Given the description of an element on the screen output the (x, y) to click on. 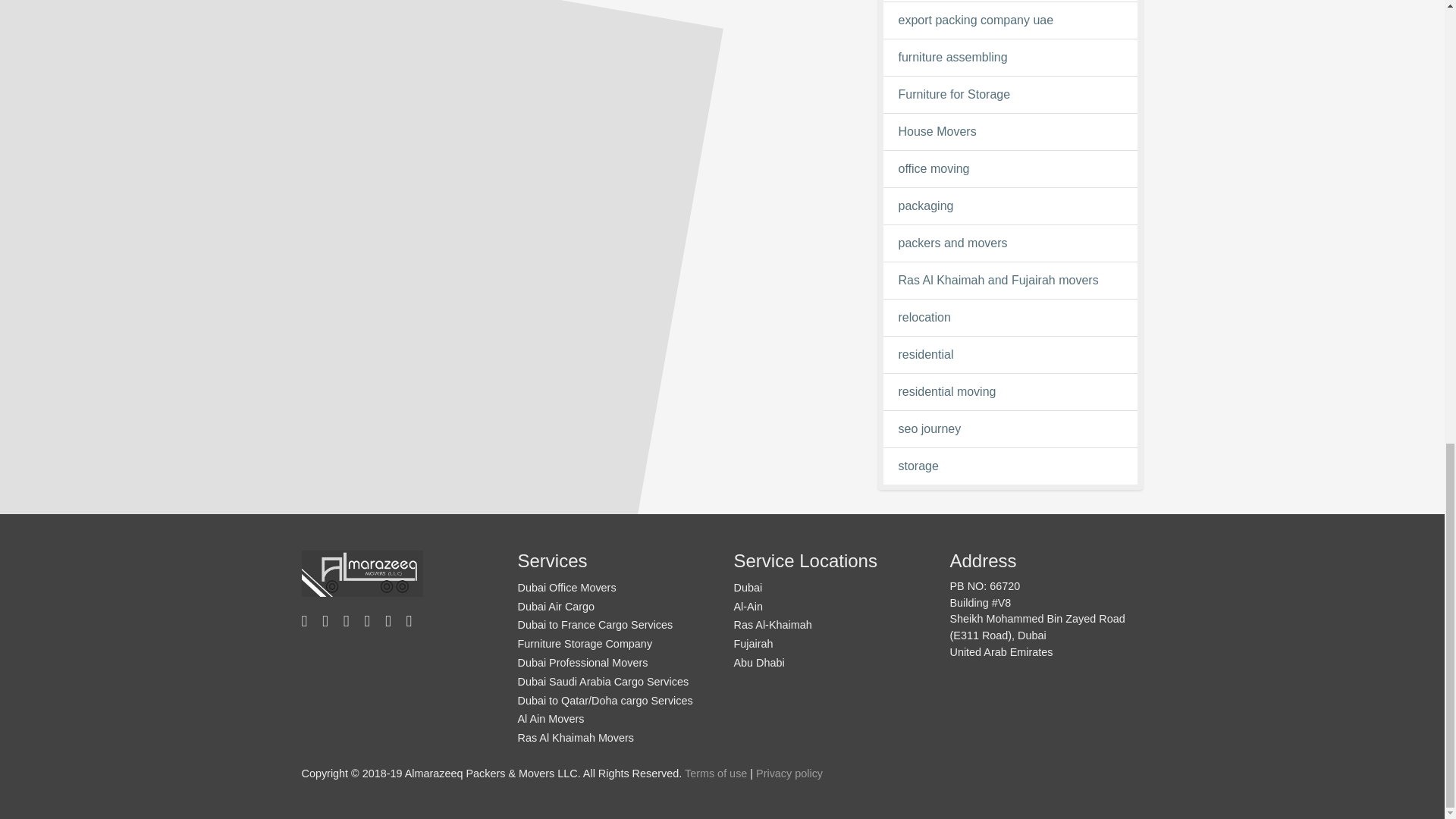
residential (1010, 354)
packaging (1010, 206)
export packing company uae (1010, 20)
House Movers (1010, 131)
Furniture for Storage (1010, 94)
Ras Al Khaimah and Fujairah movers (1010, 280)
furniture assembling (1010, 57)
packers and movers (1010, 243)
office moving (1010, 168)
relocation (1010, 317)
